Given the description of an element on the screen output the (x, y) to click on. 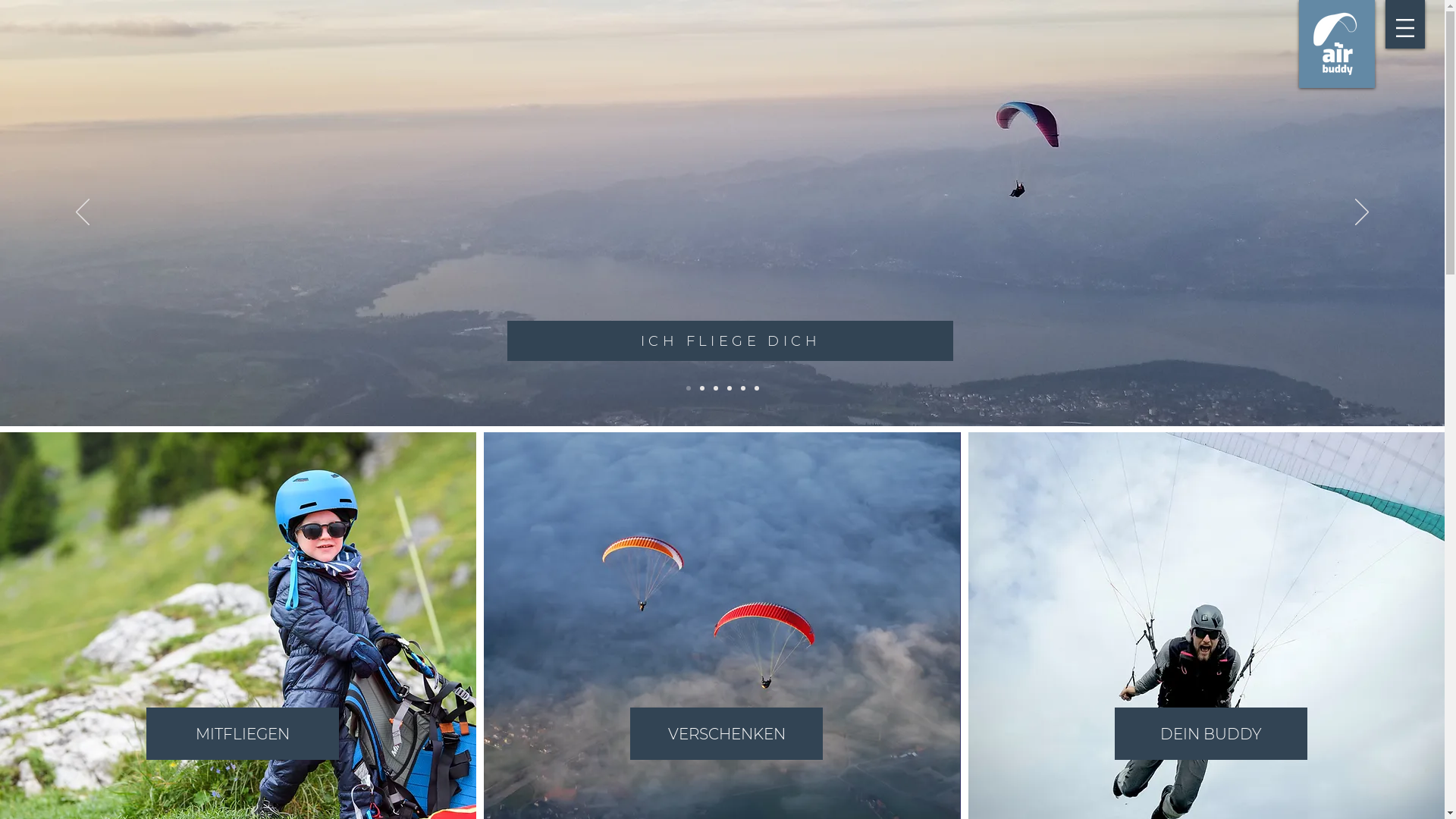
DEIN BUDDY Element type: text (1210, 733)
MITFLIEGEN Element type: text (242, 733)
VERSCHENKEN Element type: text (726, 733)
